Given the description of an element on the screen output the (x, y) to click on. 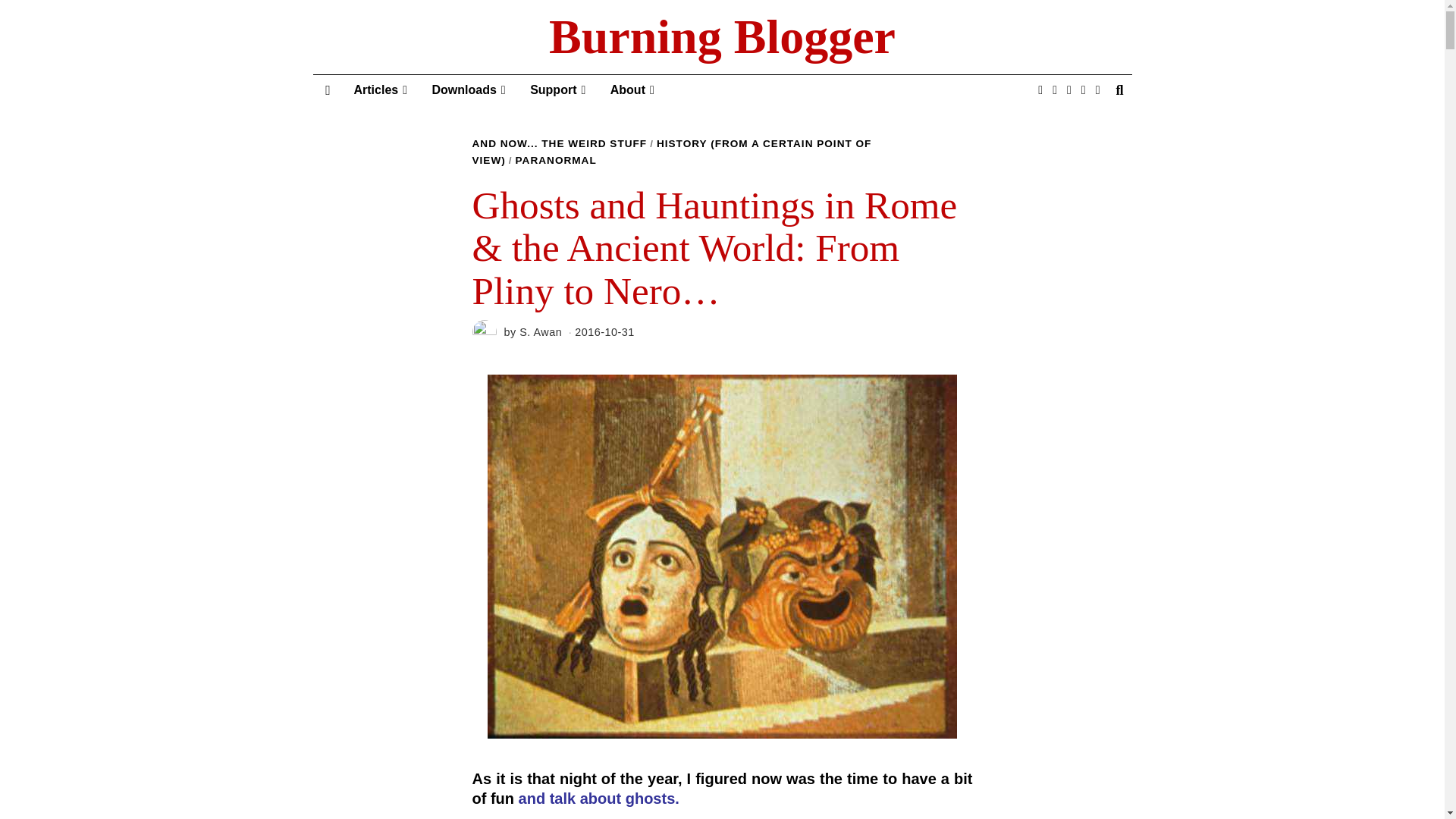
About (632, 90)
Burning Blogger (722, 36)
Articles (379, 90)
Downloads (469, 90)
Support (557, 90)
